Given the description of an element on the screen output the (x, y) to click on. 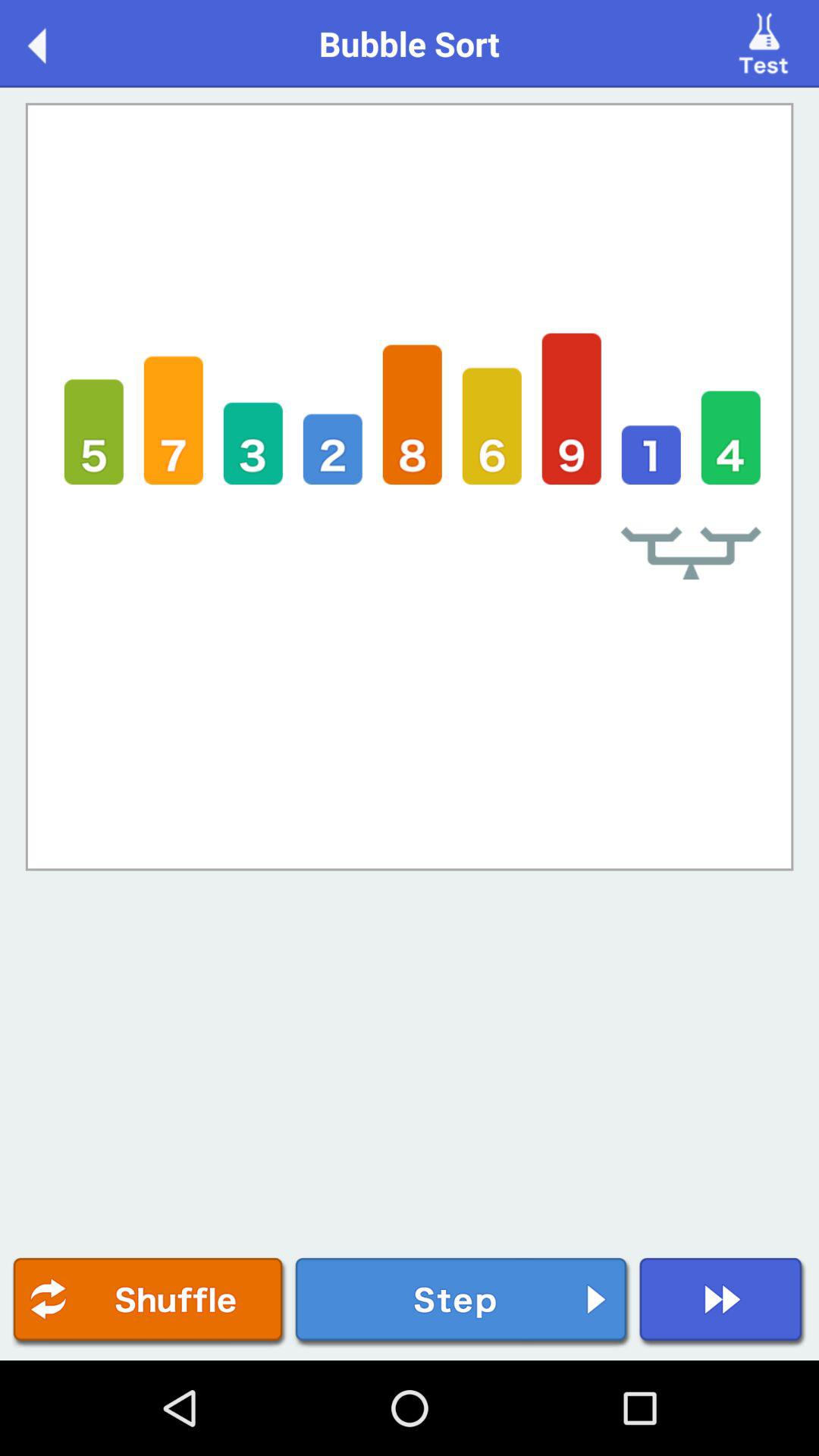
the button is used to go forward (462, 1302)
